Given the description of an element on the screen output the (x, y) to click on. 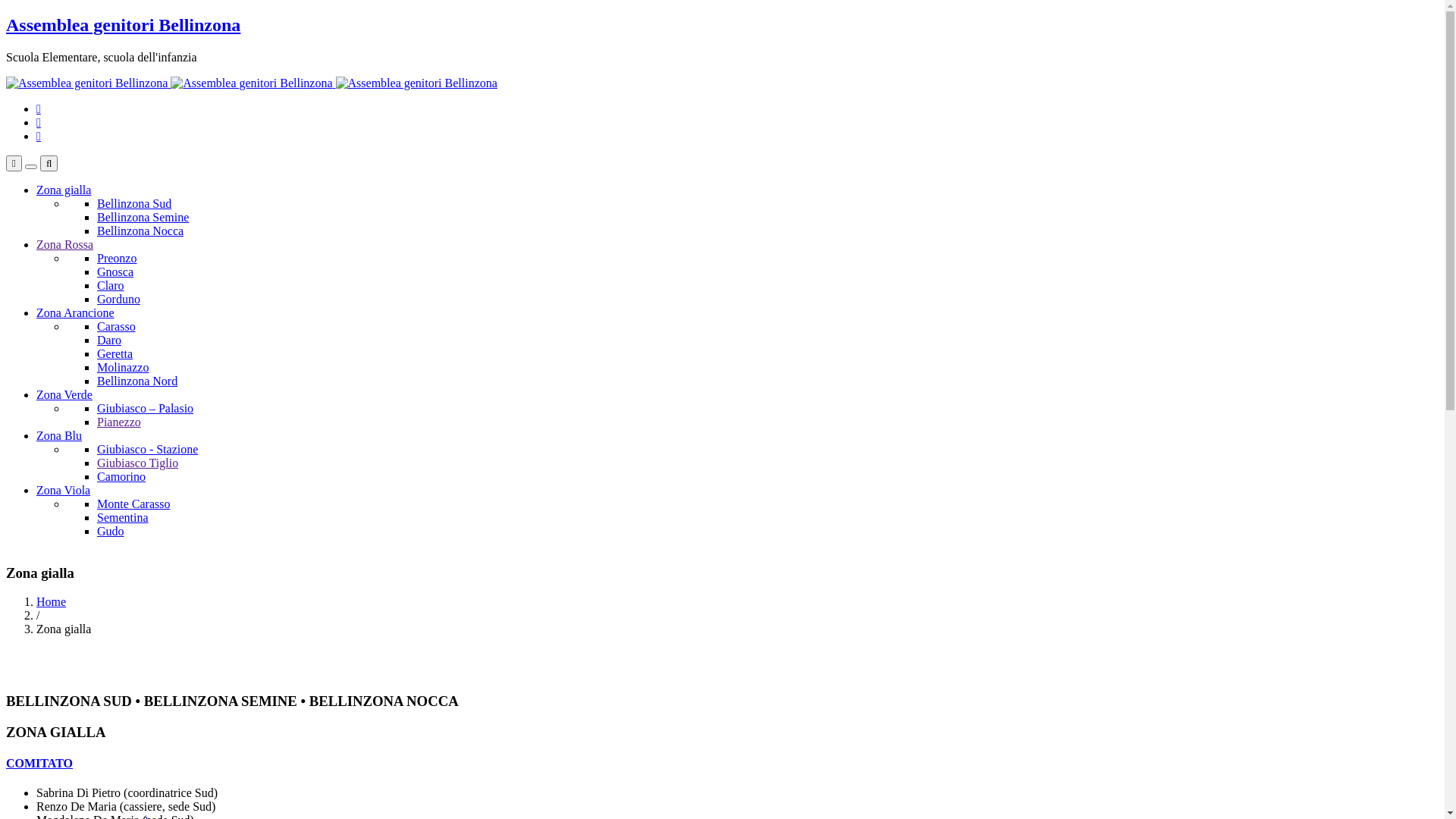
Geretta Element type: text (114, 353)
Zona Viola Element type: text (63, 489)
Molinazzo Element type: text (122, 366)
Bellinzona Semine Element type: text (142, 216)
Salta al contenuto principale Element type: text (6, 15)
Preonzo Element type: text (116, 257)
Claro Element type: text (110, 285)
Gudo Element type: text (110, 530)
Zona Arancione Element type: text (75, 312)
COMITATO Element type: text (39, 762)
Daro Element type: text (109, 339)
Monte Carasso Element type: text (133, 503)
Bellinzona Sud Element type: text (134, 203)
Giubiasco - Stazione Element type: text (147, 448)
Camorino Element type: text (121, 476)
Carasso Element type: text (116, 326)
Home Element type: text (50, 601)
Zona Blu Element type: text (58, 435)
Zona Verde Element type: text (64, 394)
Bellinzona Nord Element type: text (137, 380)
Sementina Element type: text (122, 517)
Gorduno Element type: text (118, 298)
Zona gialla Element type: text (63, 189)
Pianezzo Element type: text (119, 421)
Assemblea genitori Bellinzona Element type: text (123, 24)
Bellinzona Nocca Element type: text (140, 230)
Gnosca Element type: text (115, 271)
Zona Rossa Element type: text (64, 244)
Giubiasco Tiglio Element type: text (137, 462)
